Given the description of an element on the screen output the (x, y) to click on. 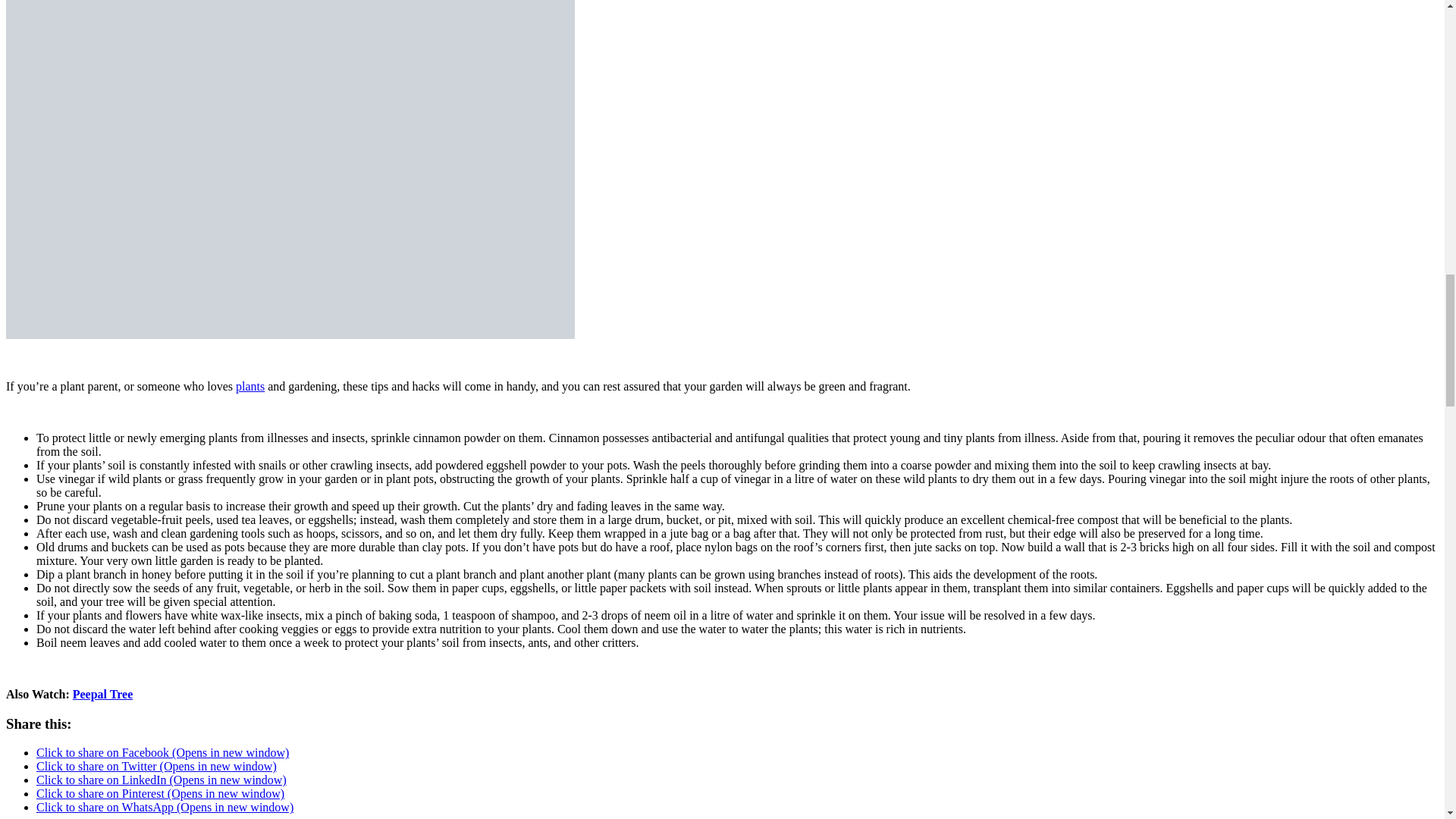
Click to share on Pinterest (159, 793)
Peepal Tree (102, 694)
Click to share on Twitter (156, 766)
Click to share on LinkedIn (161, 779)
Click to share on WhatsApp (165, 807)
plants (249, 386)
Click to share on Facebook (162, 752)
